Given the description of an element on the screen output the (x, y) to click on. 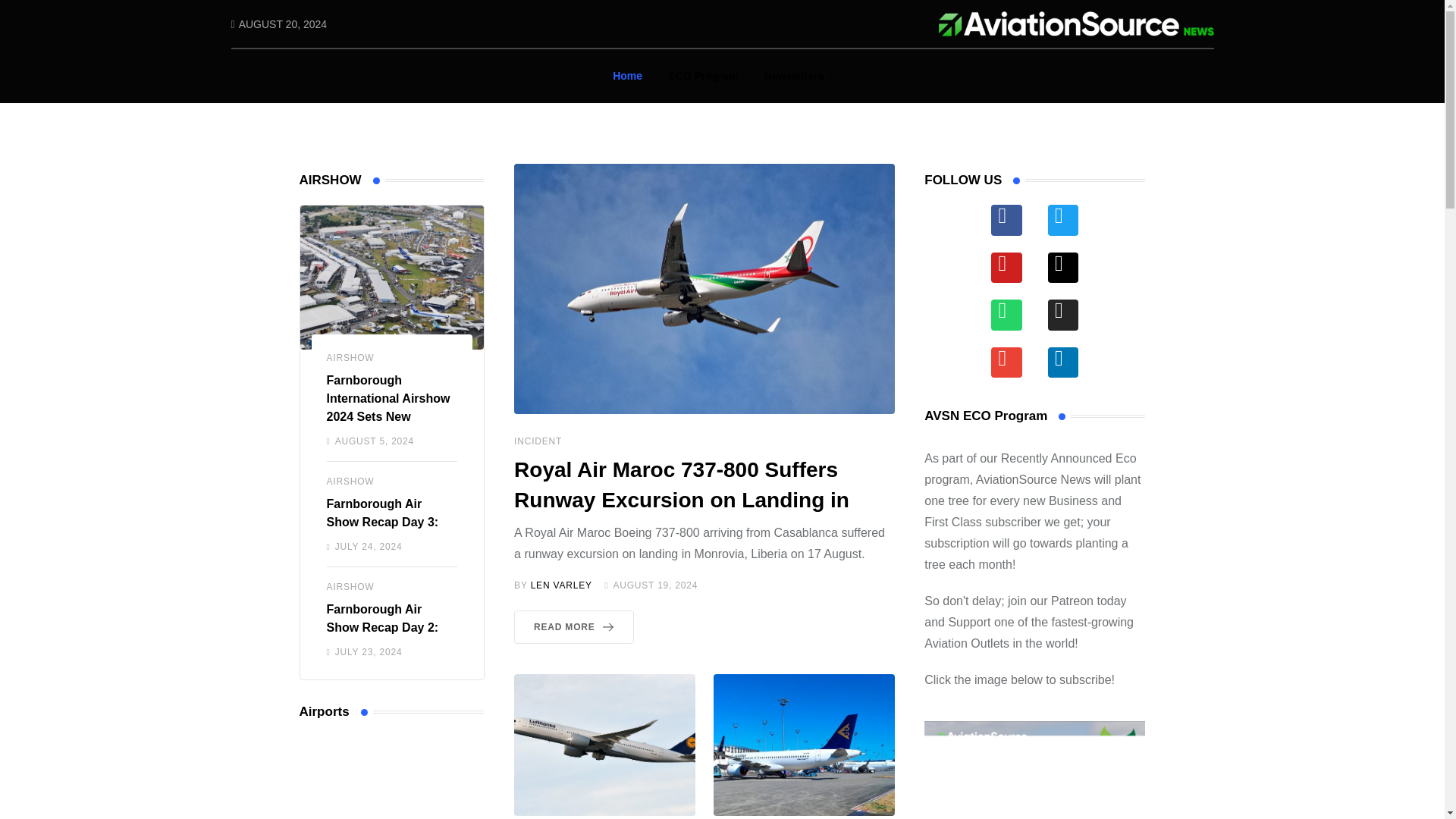
Newsletters (797, 76)
AIRSHOW (350, 357)
Farnborough Air Show Recap Day 3: (382, 512)
AIRSHOW (350, 481)
LEN VARLEY (561, 584)
Farnborough Air Show Recap Day 2: (382, 617)
INCIDENT (537, 440)
Farnborough International Airshow 2024 Sets New (387, 398)
Home (627, 75)
Posts by Len Varley (561, 584)
